Given the description of an element on the screen output the (x, y) to click on. 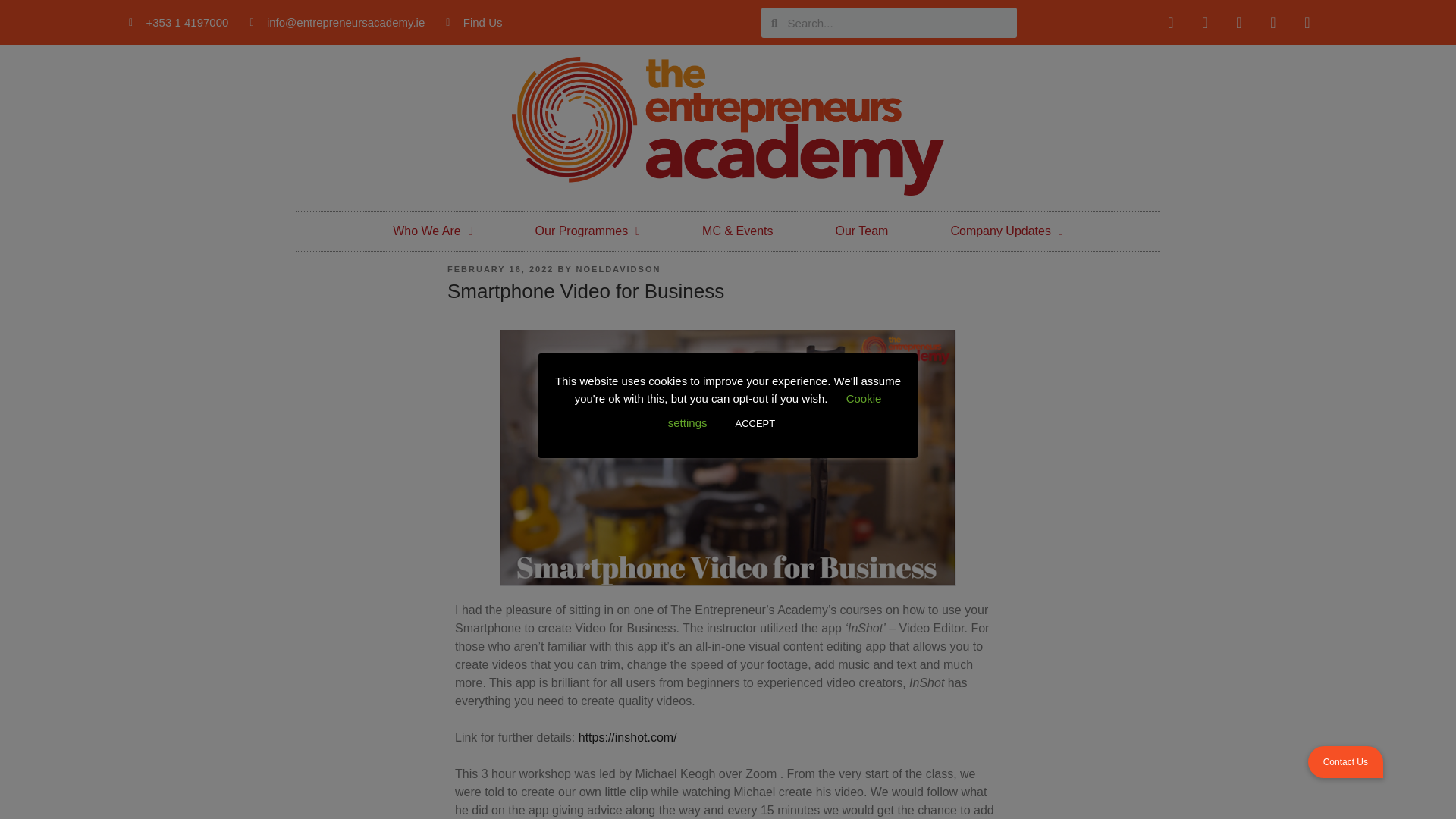
Who We Are (432, 230)
Find Us (473, 22)
Our Programmes (587, 230)
